Given the description of an element on the screen output the (x, y) to click on. 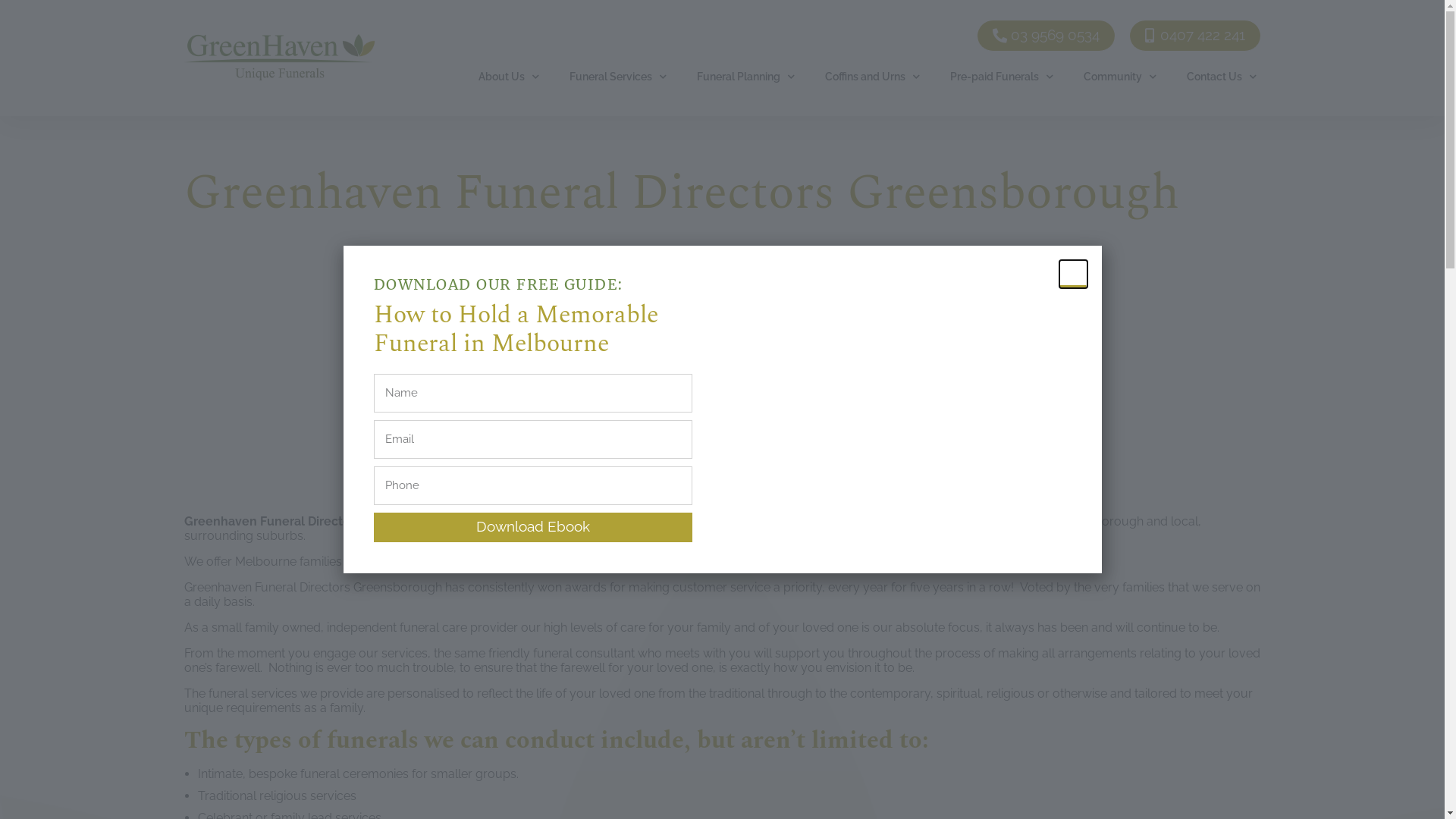
Contact Us Element type: text (1225, 37)
Funeral Services Element type: text (659, 37)
Community Element type: text (1131, 37)
0407 422 241 Element type: text (1194, 35)
About Us Element type: text (557, 37)
Pre-paid Funerals Element type: text (1020, 37)
03 9569 0534 Element type: text (1045, 35)
Community Element type: text (1119, 76)
Coffins and Urns Element type: text (872, 76)
Funeral Planning Element type: text (745, 76)
Funeral Services Element type: text (617, 76)
Pre-paid Funerals Element type: text (1001, 76)
Coffins and Urns Element type: text (898, 37)
Download Ebook Element type: text (532, 527)
Contact Us Element type: text (1221, 76)
About Us Element type: text (508, 76)
Funeral Planning Element type: text (779, 37)
